Given the description of an element on the screen output the (x, y) to click on. 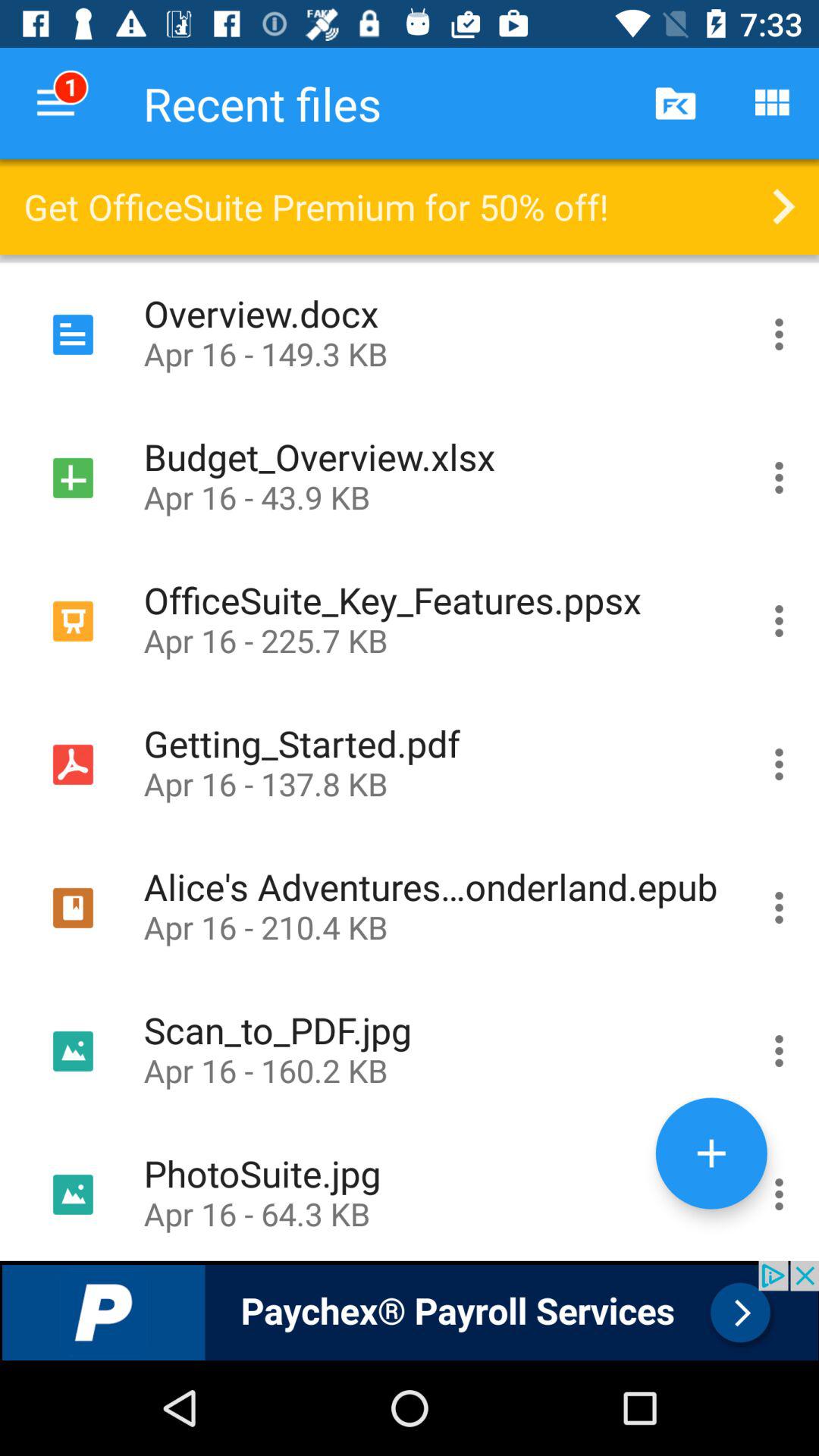
view file (779, 334)
